Given the description of an element on the screen output the (x, y) to click on. 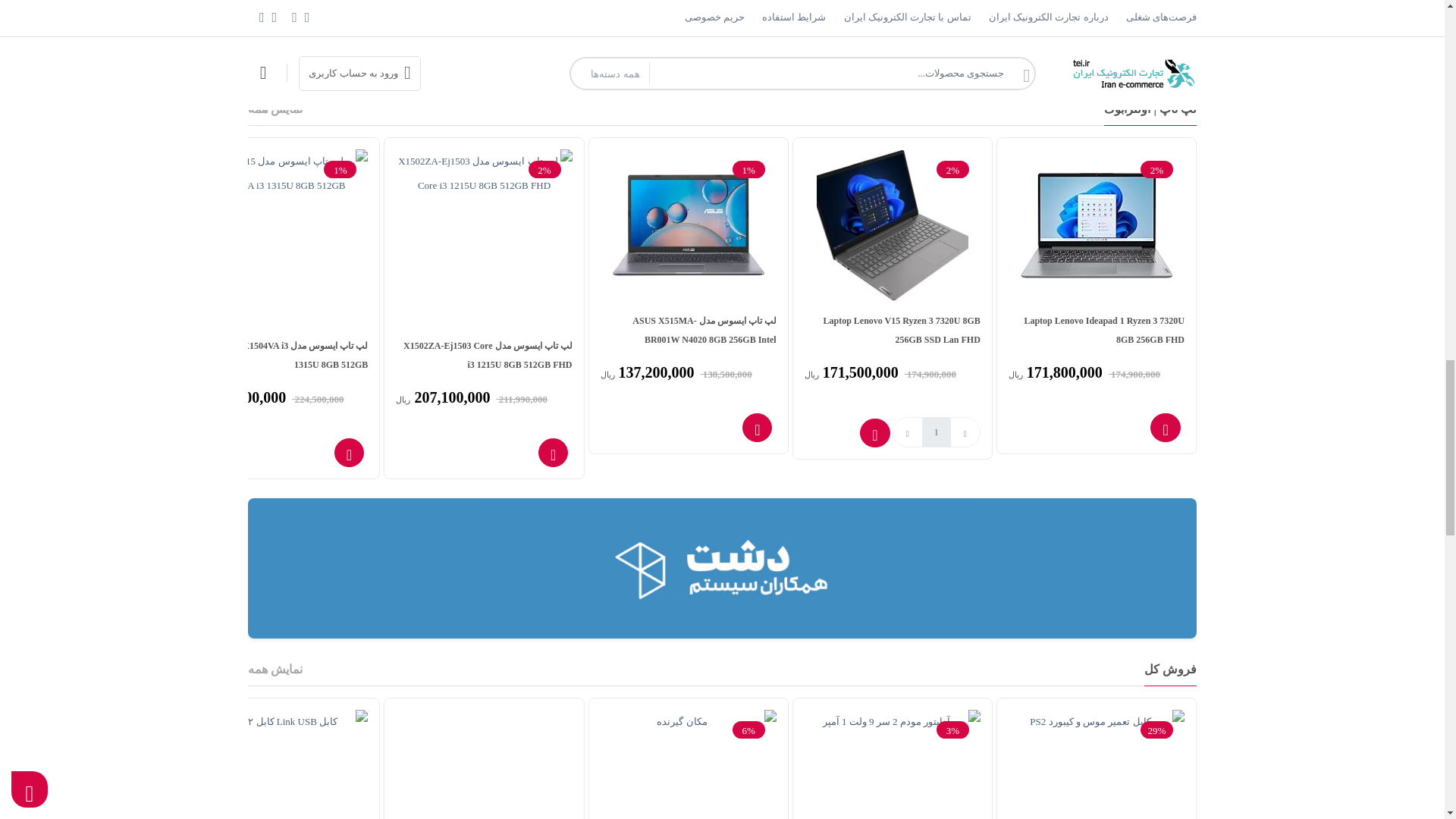
1 (935, 431)
